Given the description of an element on the screen output the (x, y) to click on. 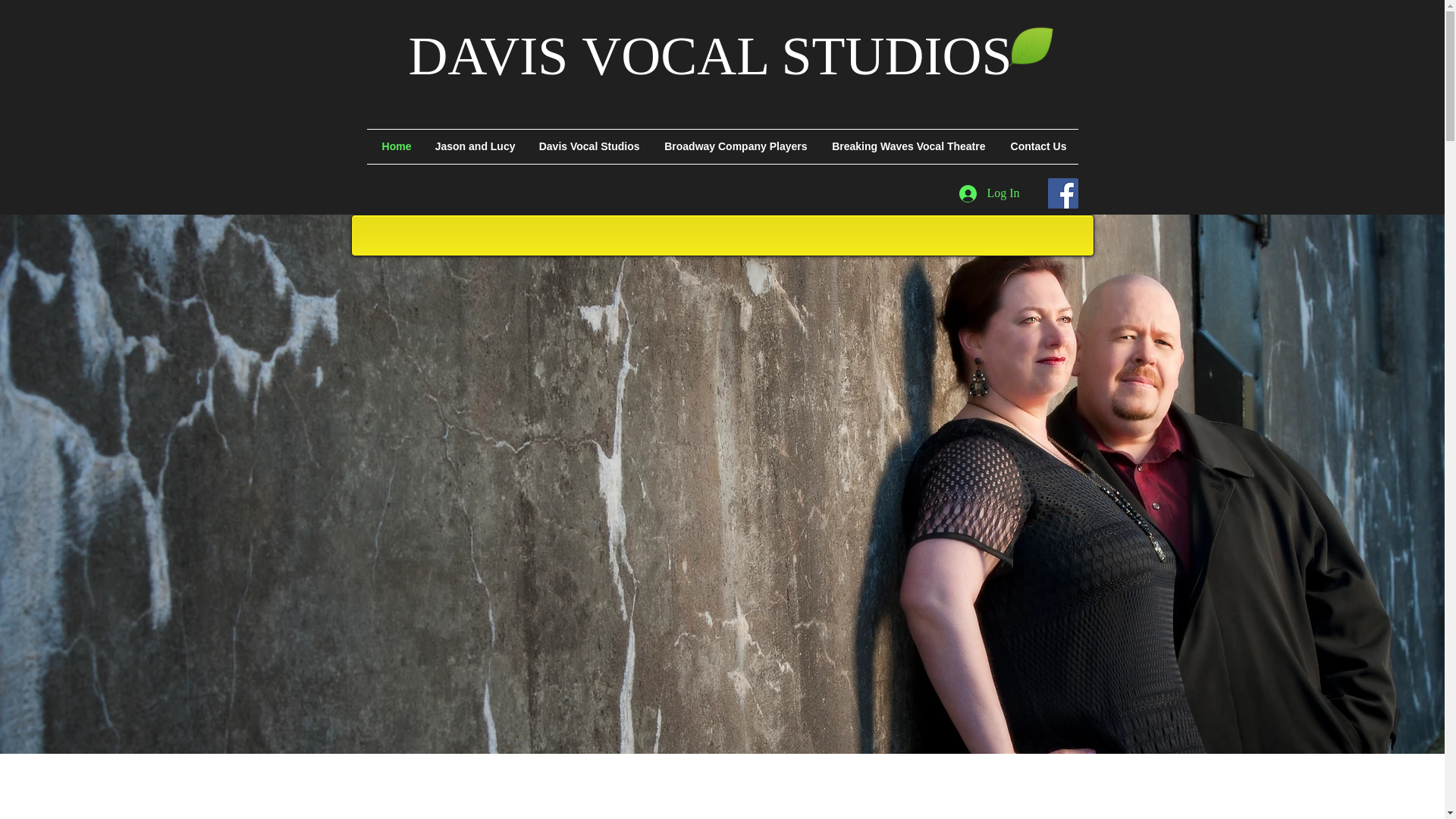
Broadway Company Players (734, 146)
Home (394, 146)
Log In (981, 193)
Jason and Lucy (475, 146)
Davis Vocal Studios (587, 146)
Breaking Waves Vocal Theatre (907, 146)
VOCAL STUDIOS (795, 55)
Contact Us (1036, 146)
DAVIS (487, 55)
